Given the description of an element on the screen output the (x, y) to click on. 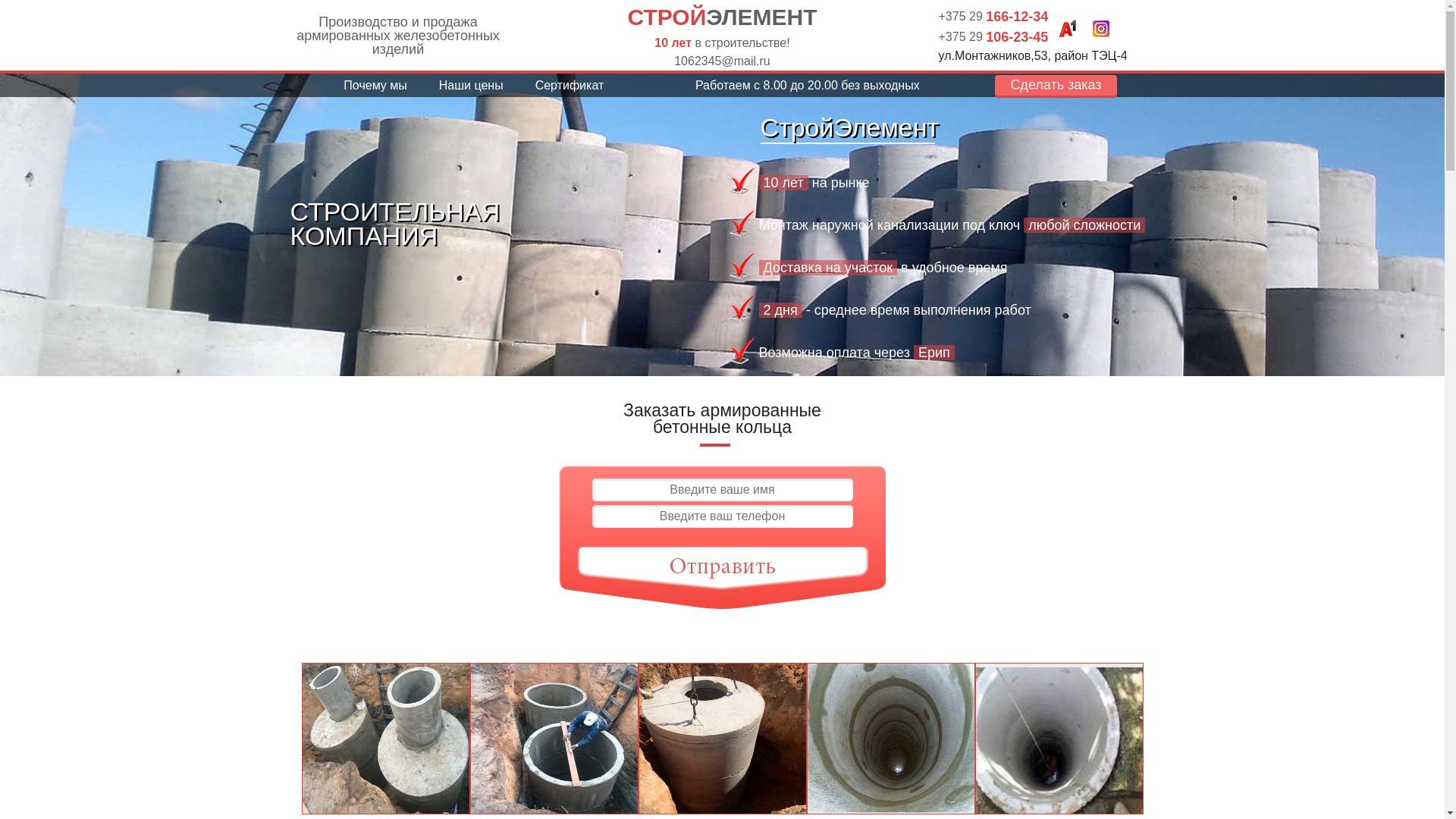
+375 29 166-12-34 Element type: text (993, 16)
+375 29 106-23-45 Element type: text (993, 35)
